Given the description of an element on the screen output the (x, y) to click on. 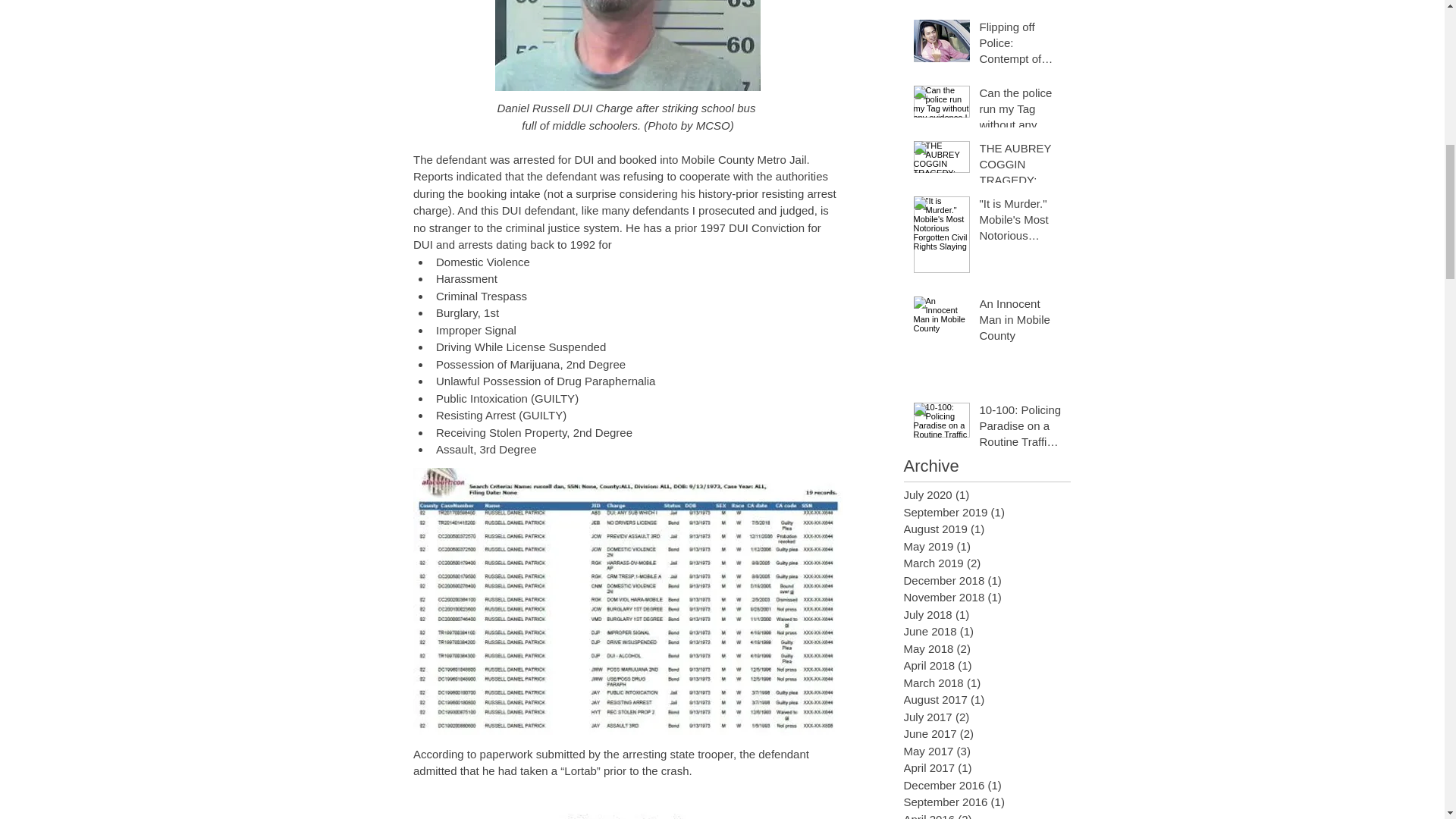
Flipping off Police: Contempt of Cop or Free Speech? (1020, 45)
An Innocent Man in Mobile County (1020, 322)
